Given the description of an element on the screen output the (x, y) to click on. 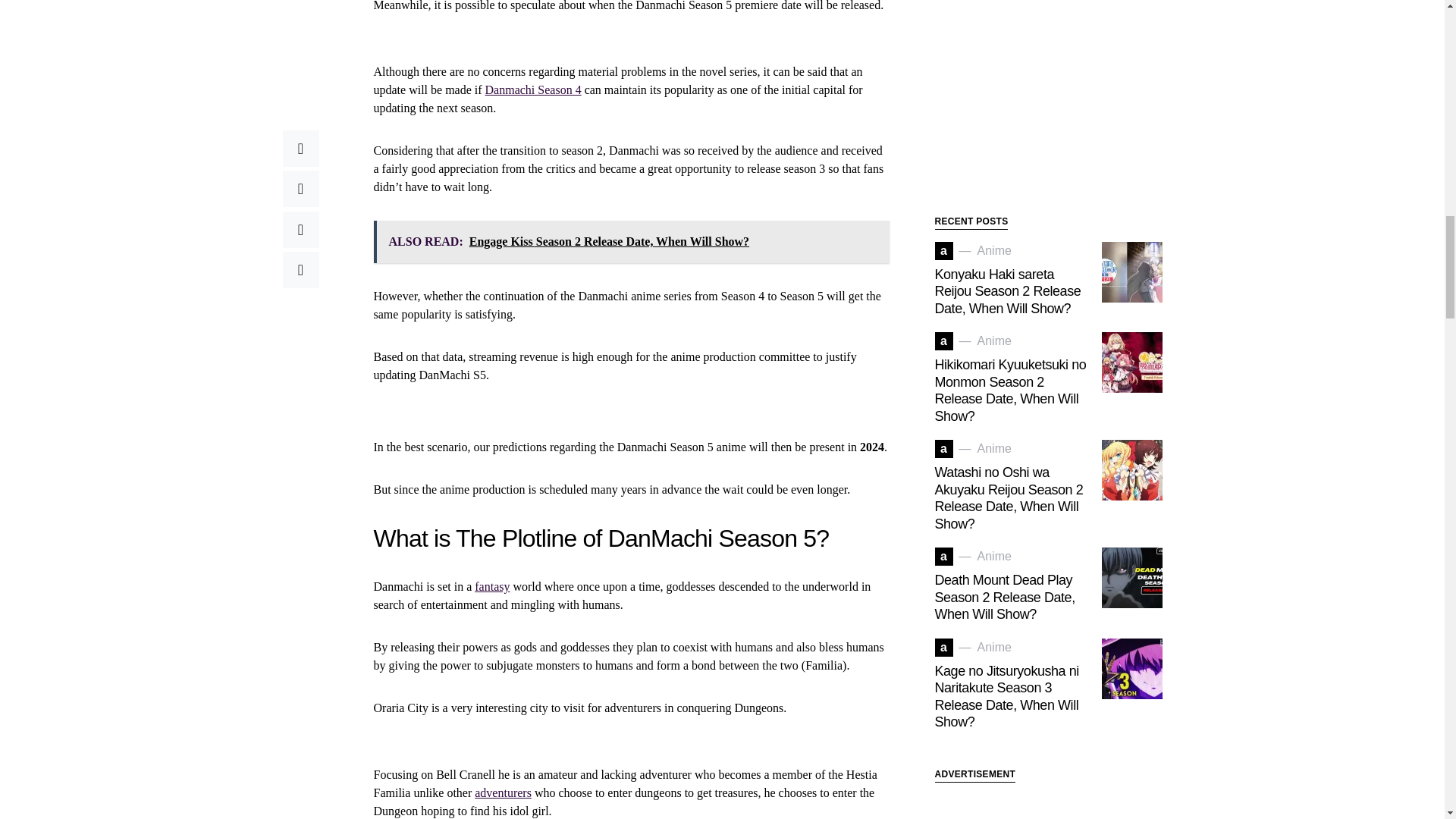
Danmachi Season 4 (532, 89)
fantasy (491, 585)
adventurers (502, 792)
